Given the description of an element on the screen output the (x, y) to click on. 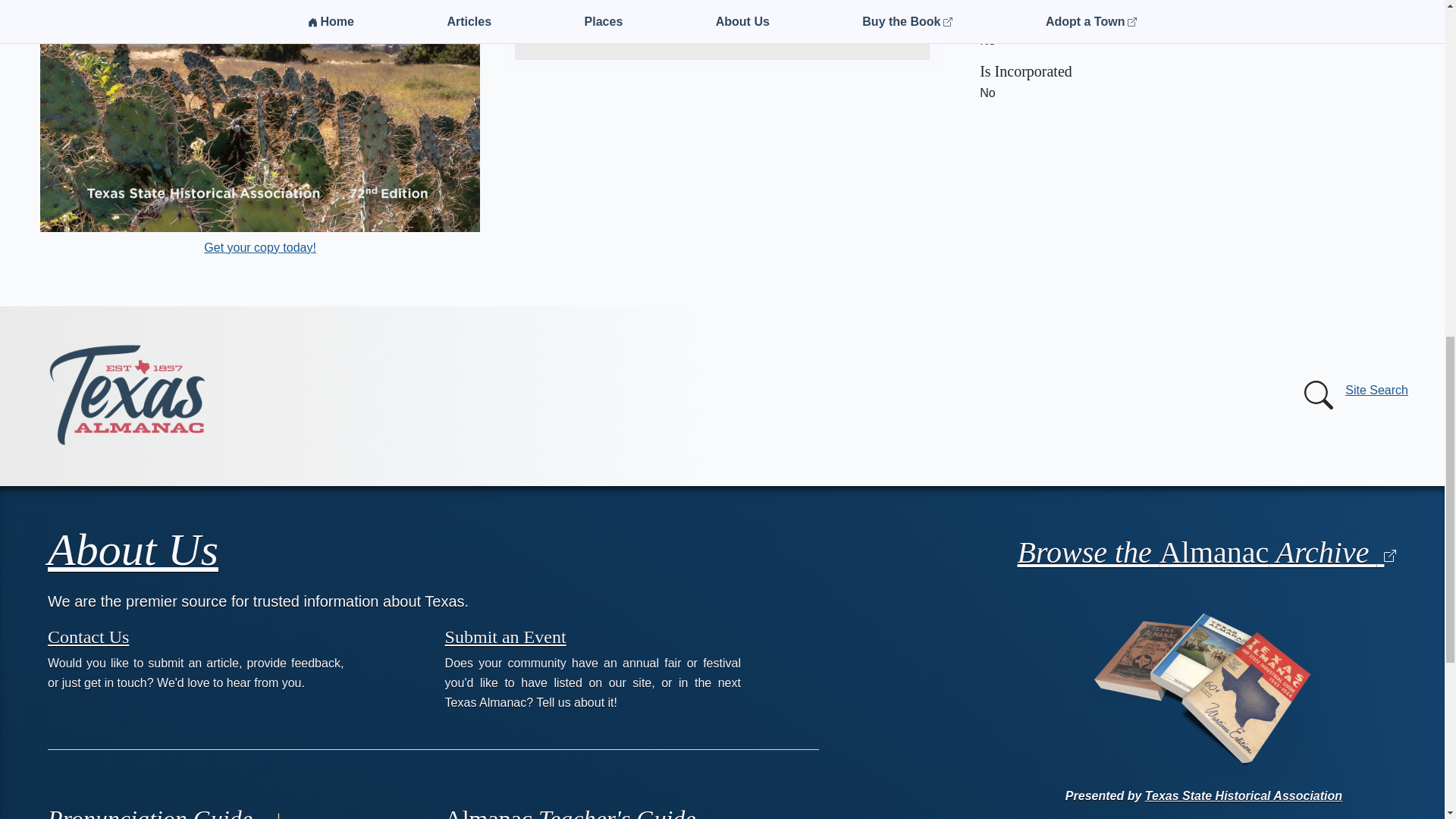
Texas State Historical Association (692, 11)
Almanac Teacher's Guide (570, 812)
Pronunciation Guide (167, 812)
Get your copy today! (259, 246)
Contact Us (88, 636)
About Us (133, 549)
Submit an Event (505, 636)
Site Search (1352, 394)
